Given the description of an element on the screen output the (x, y) to click on. 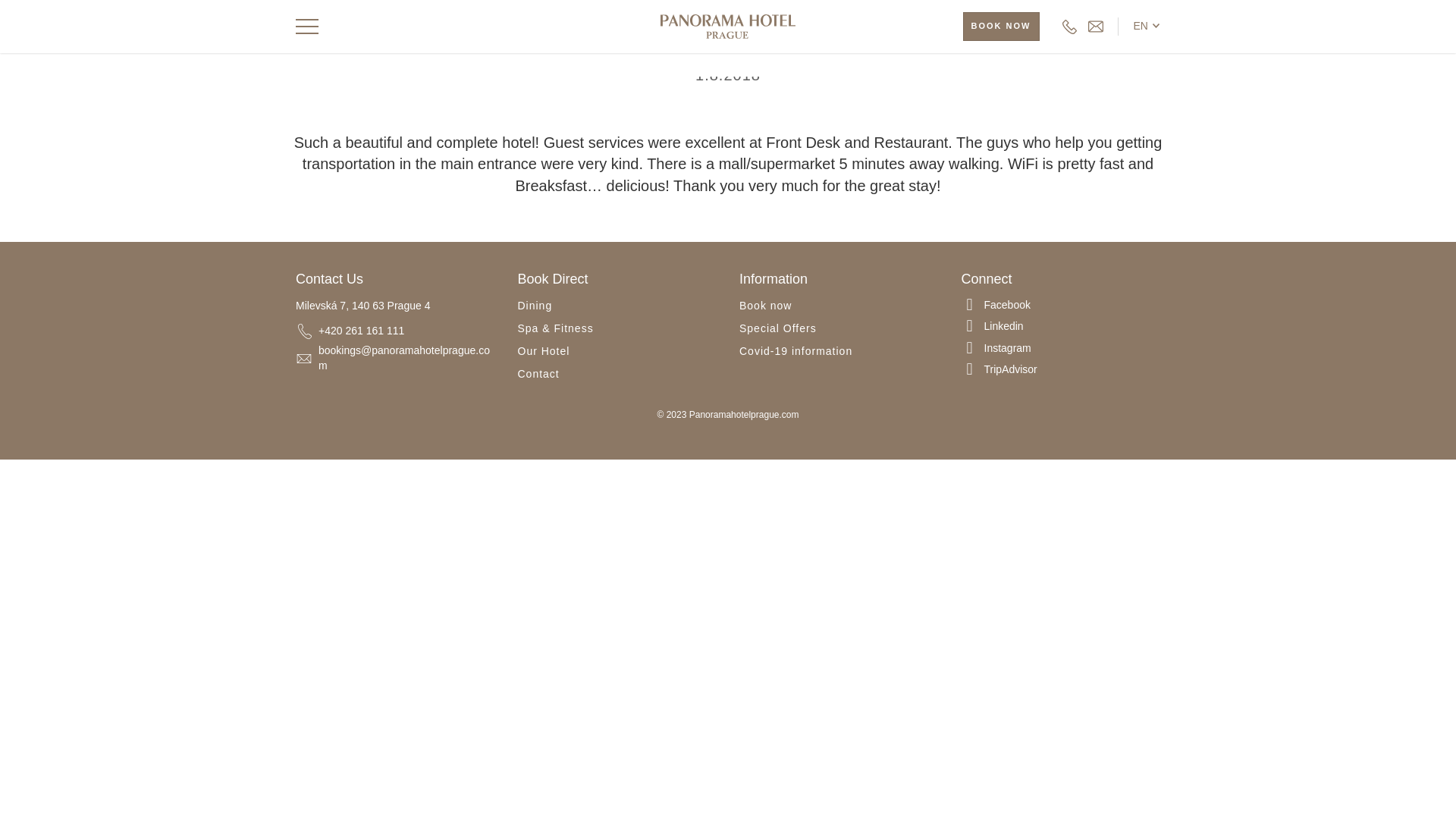
EN (1146, 26)
Toggle navigation (310, 26)
BOOK NOW (1000, 26)
Panorama Hotel Prague (727, 26)
